Given the description of an element on the screen output the (x, y) to click on. 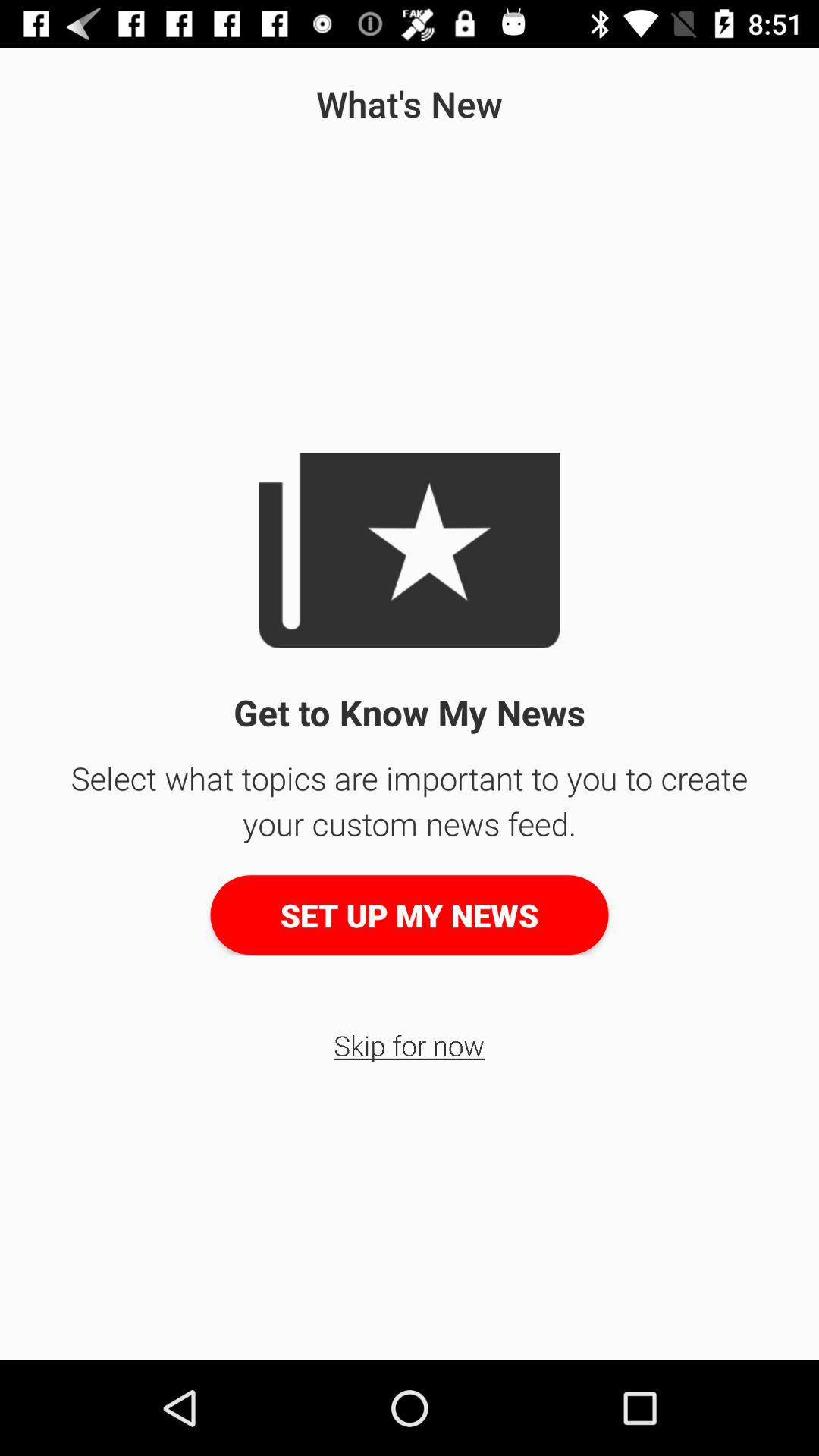
open the icon above the skip for now app (409, 914)
